Given the description of an element on the screen output the (x, y) to click on. 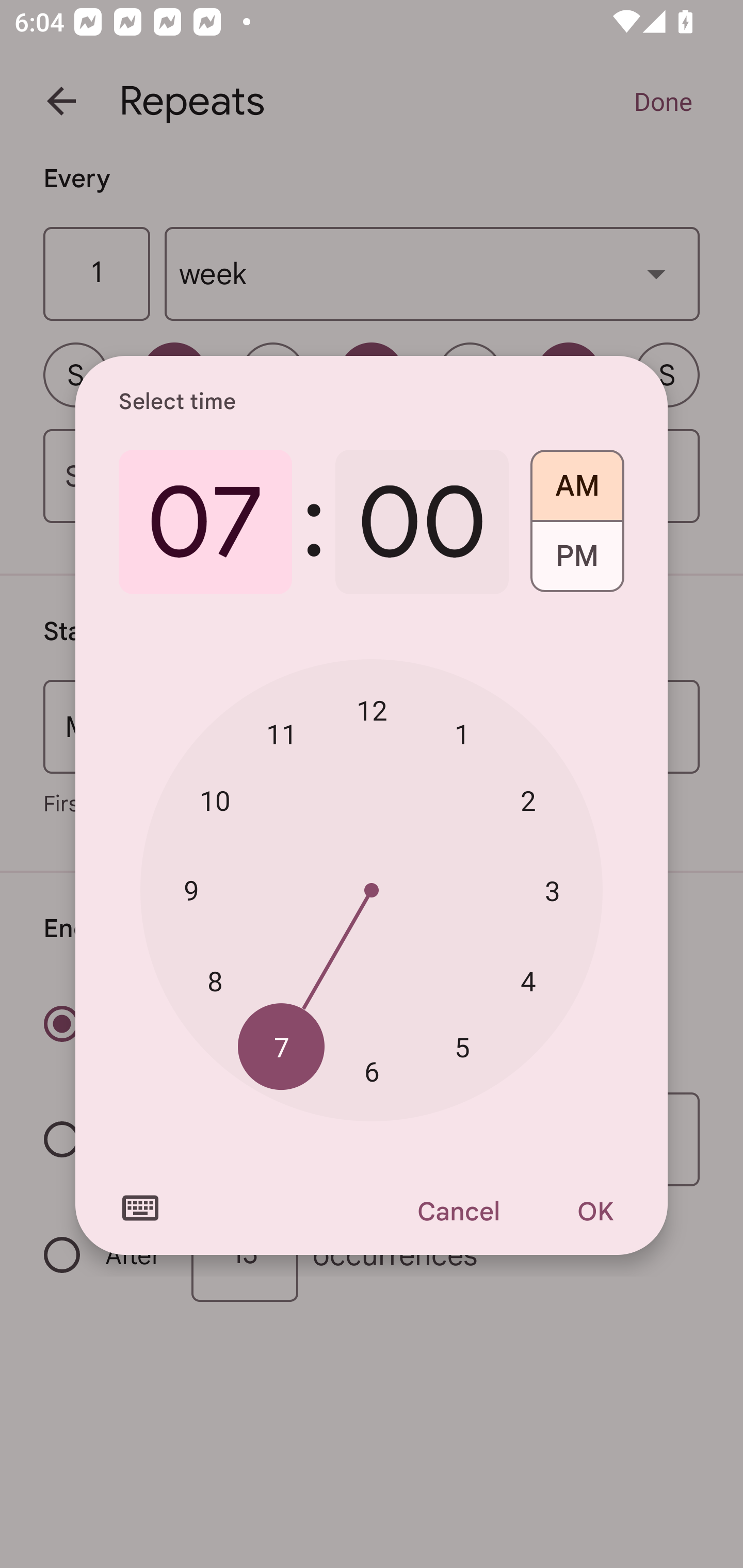
AM (577, 478)
07 7 o'clock (204, 522)
00 0 minutes (421, 522)
PM (577, 563)
12 12 o'clock (371, 710)
11 11 o'clock (281, 733)
1 1 o'clock (462, 733)
10 10 o'clock (214, 800)
2 2 o'clock (528, 800)
9 9 o'clock (190, 889)
3 3 o'clock (551, 890)
8 8 o'clock (214, 980)
4 4 o'clock (528, 980)
7 7 o'clock (281, 1046)
5 5 o'clock (462, 1046)
6 6 o'clock (371, 1071)
Switch to text input mode for the time input. (140, 1208)
Cancel (458, 1211)
OK (595, 1211)
